Given the description of an element on the screen output the (x, y) to click on. 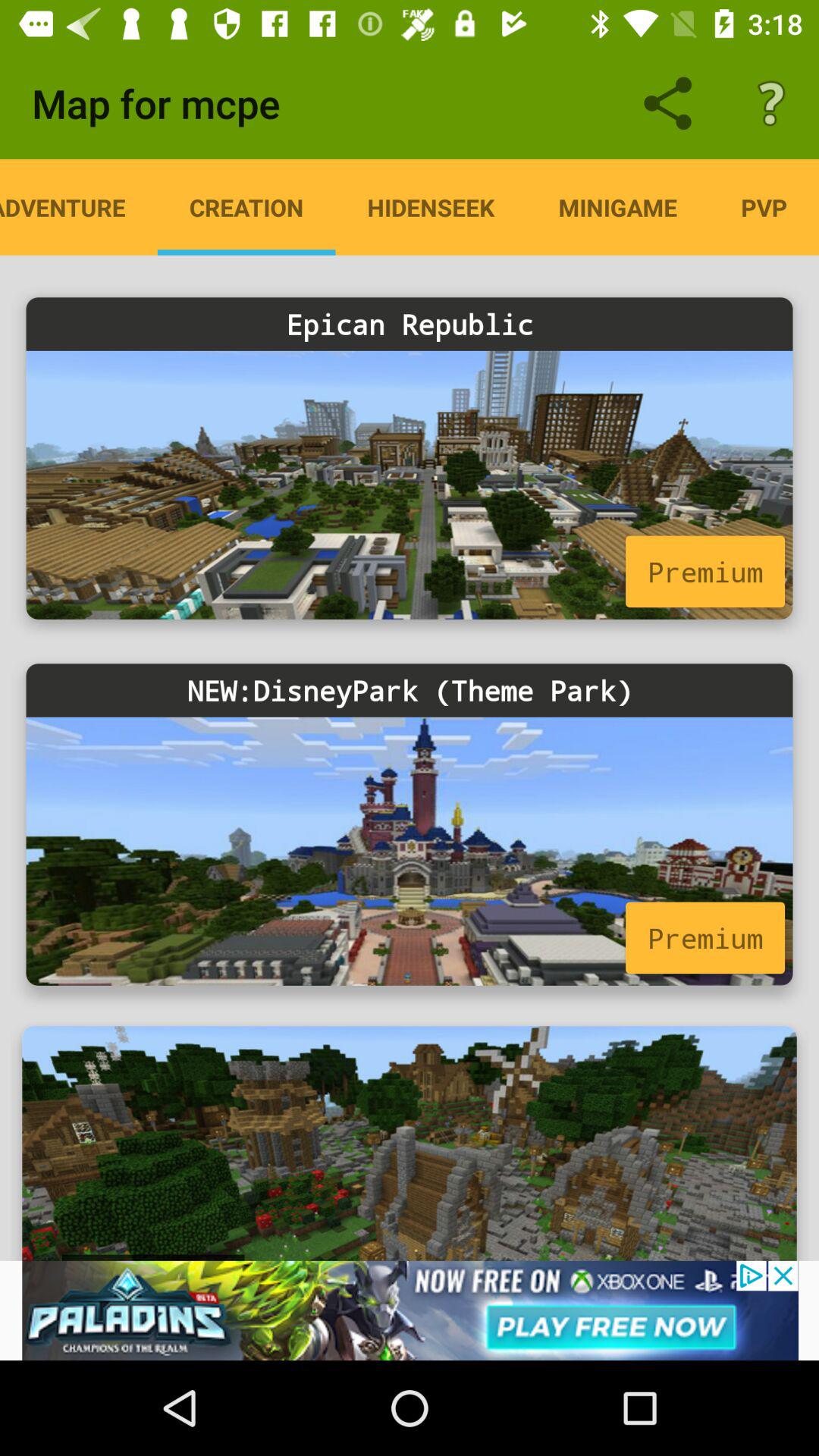
select the third image (409, 1118)
